Given the description of an element on the screen output the (x, y) to click on. 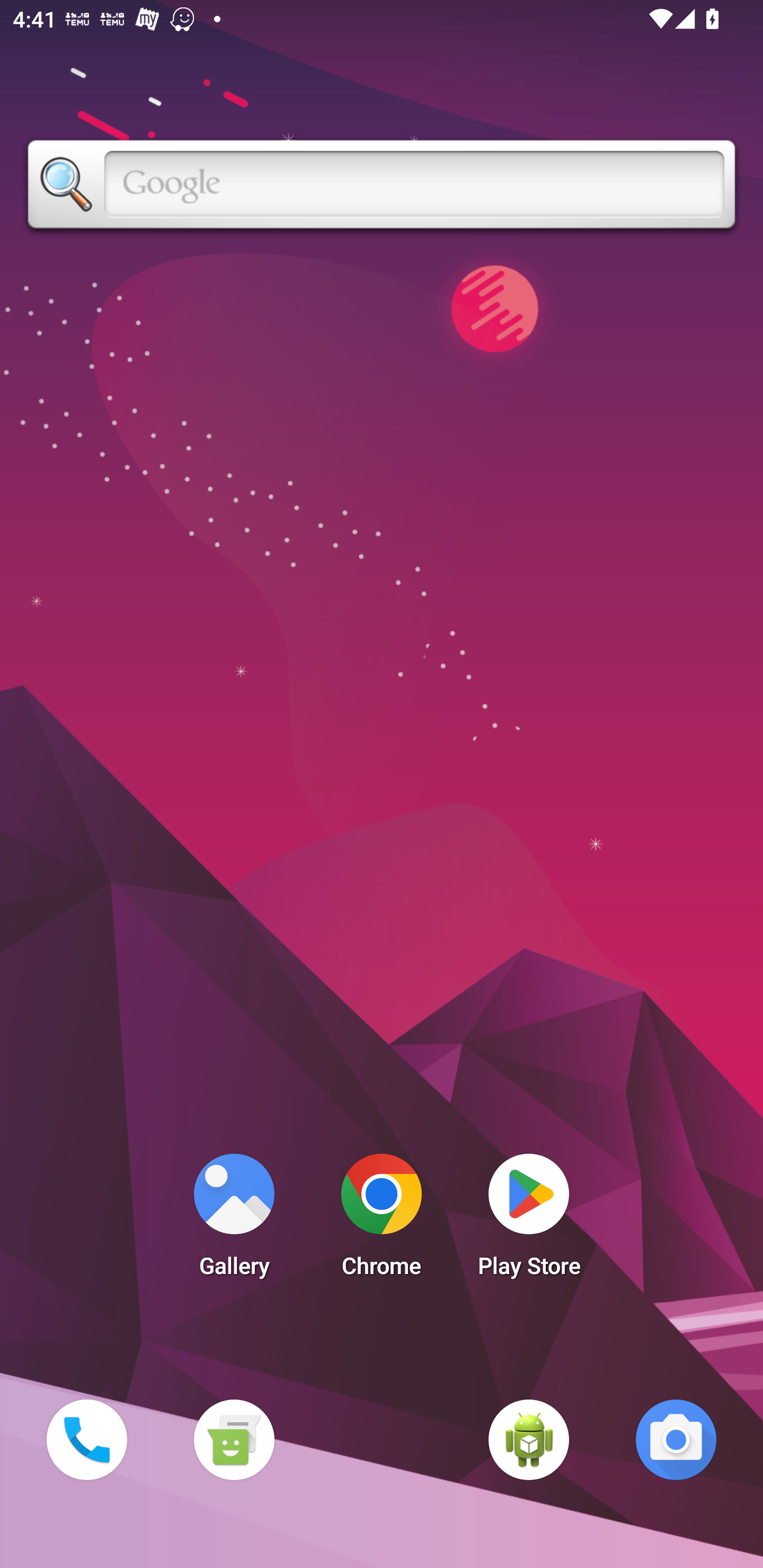
Gallery (233, 1220)
Chrome (381, 1220)
Play Store (528, 1220)
Phone (86, 1439)
Messaging (233, 1439)
WebView Browser Tester (528, 1439)
Camera (676, 1439)
